Given the description of an element on the screen output the (x, y) to click on. 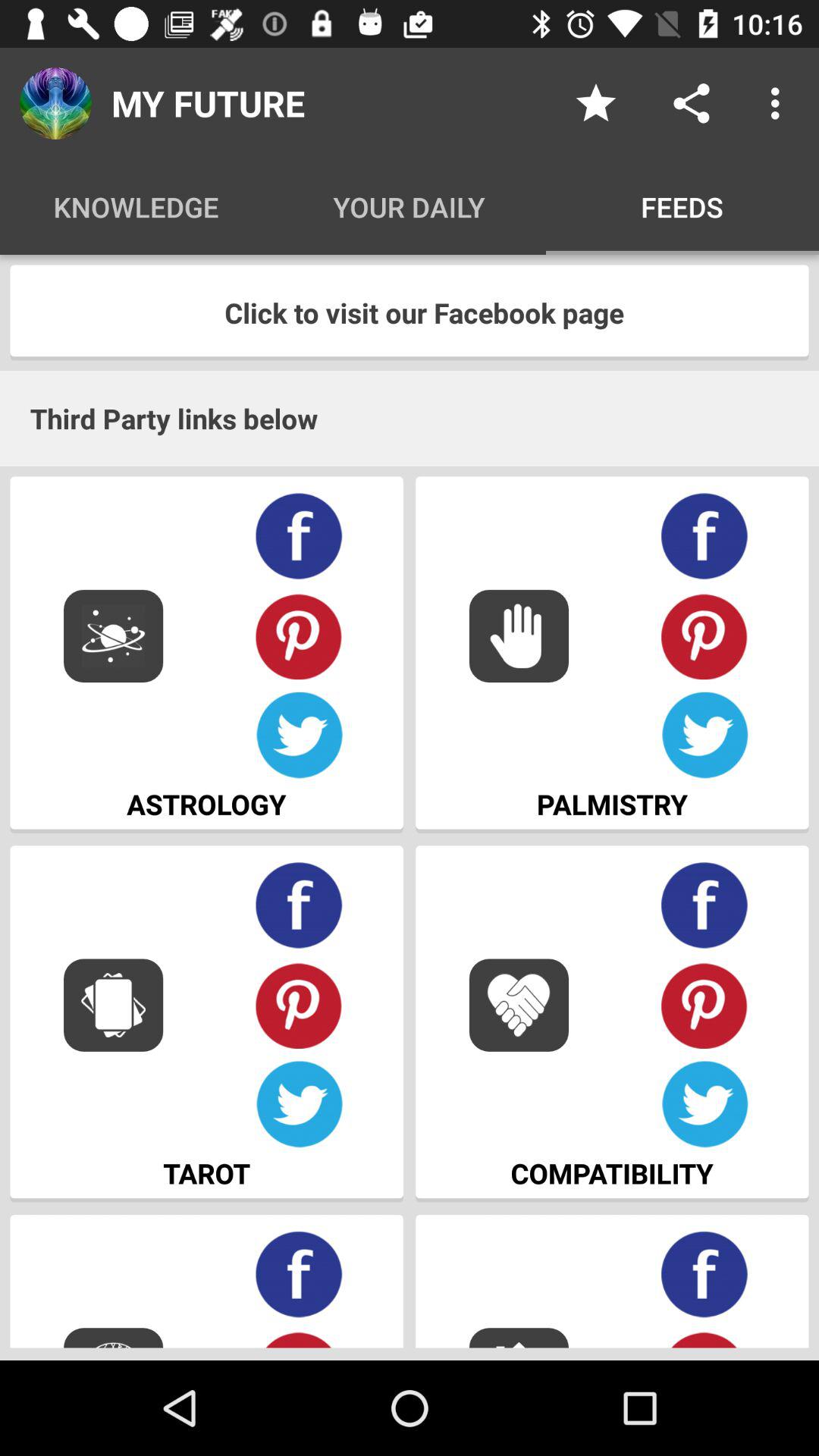
share on pininterest (299, 635)
